Given the description of an element on the screen output the (x, y) to click on. 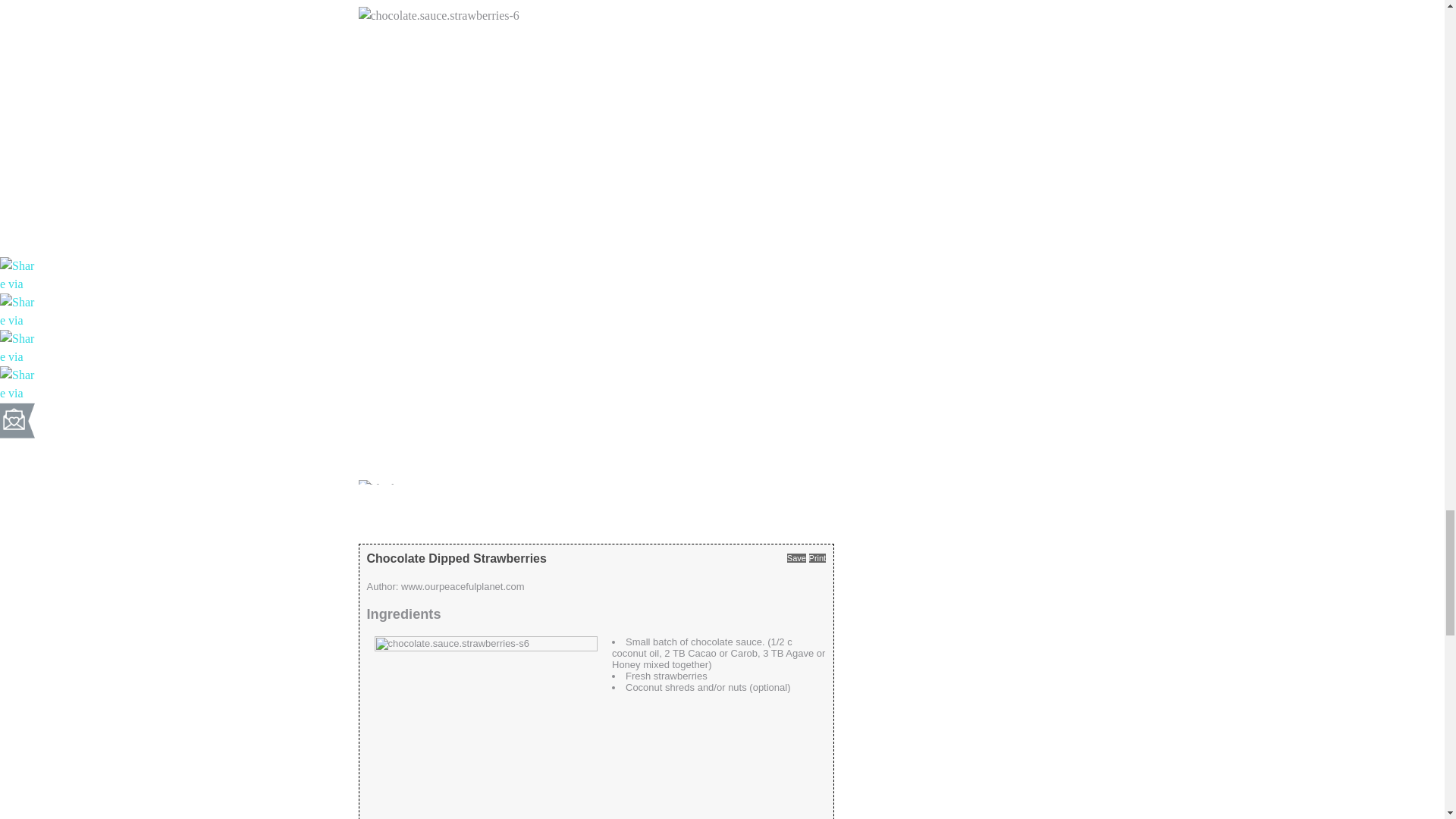
chocolate.sauce.strawberries-s6 (485, 727)
